Given the description of an element on the screen output the (x, y) to click on. 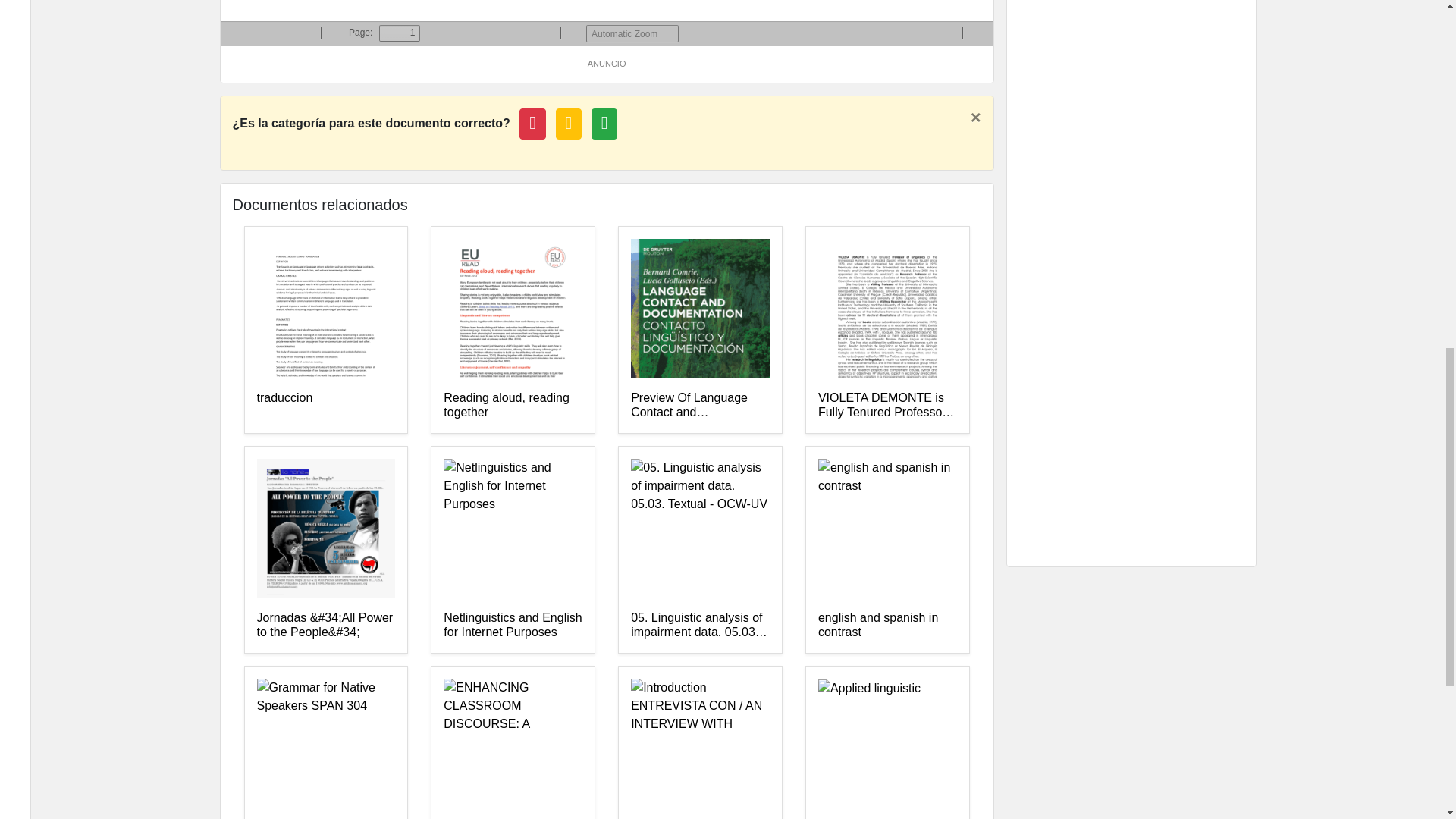
traduccion (325, 405)
Preview Of Language Contact and Documentation (700, 405)
Preview Of Language Contact and Documentation (700, 405)
traduccion (325, 405)
english and spanish in contrast (887, 625)
english and spanish in contrast (887, 625)
Reading aloud, reading together (513, 405)
Netlinguistics and English for Internet Purposes (513, 625)
